Given the description of an element on the screen output the (x, y) to click on. 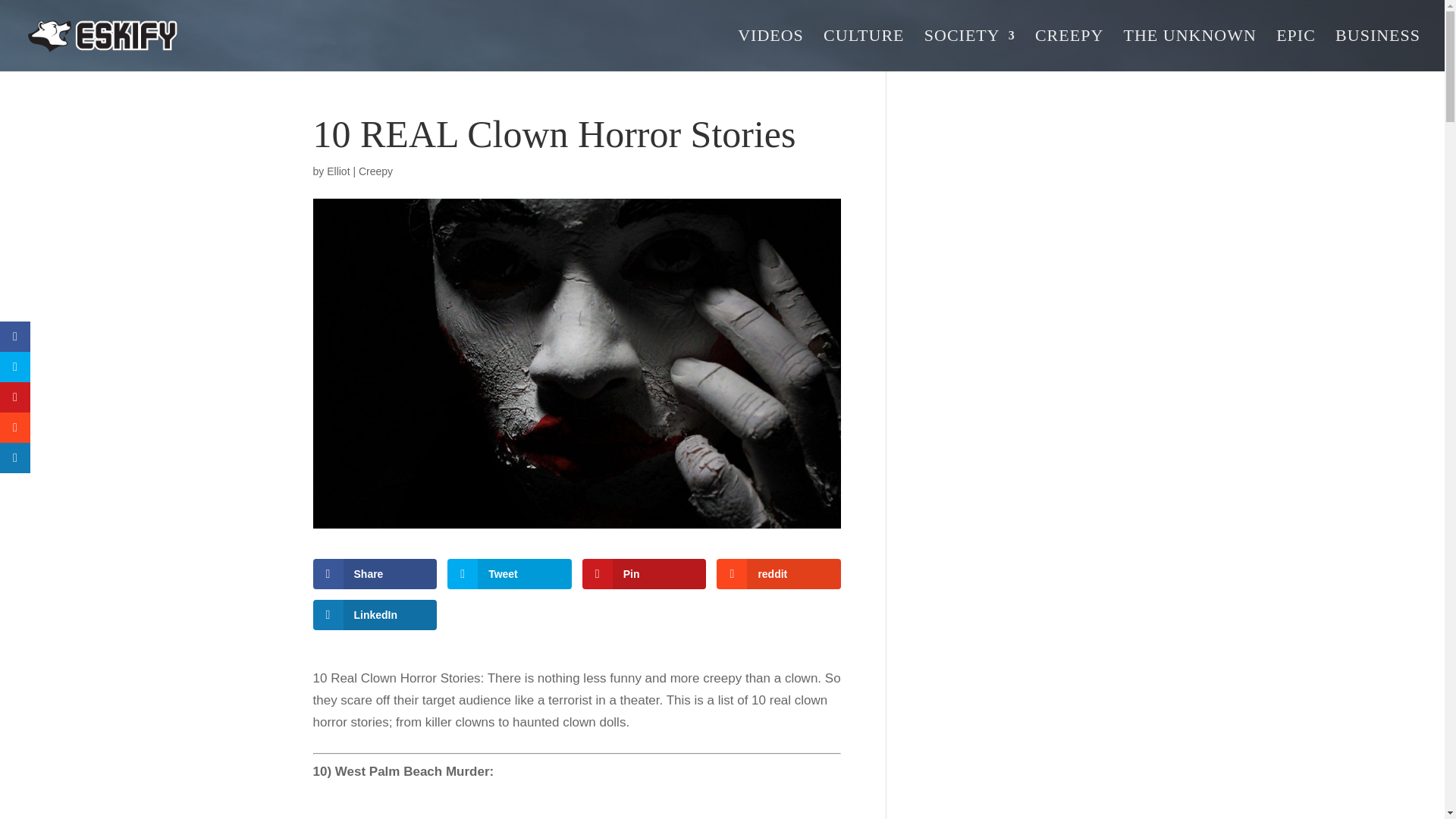
BUSINESS (1378, 50)
SOCIETY (969, 50)
VIDEOS (770, 50)
CULTURE (864, 50)
Elliot (337, 171)
reddit (778, 573)
Creepy (375, 171)
THE UNKNOWN (1190, 50)
Share (374, 573)
CREEPY (1069, 50)
EPIC (1296, 50)
Pin (644, 573)
Posts by Elliot (337, 171)
Tweet (509, 573)
LinkedIn (374, 614)
